Given the description of an element on the screen output the (x, y) to click on. 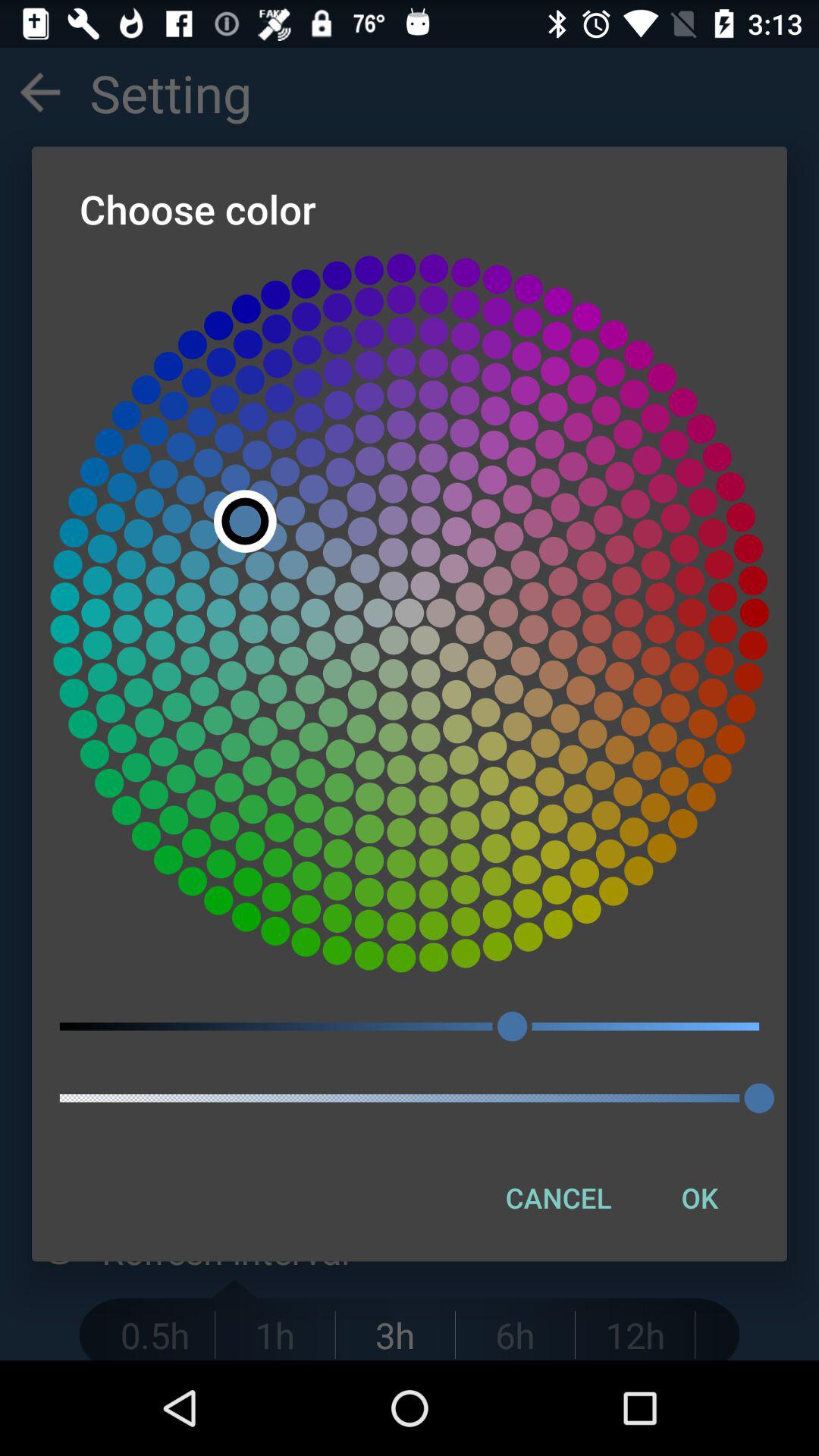
turn on item next to cancel (699, 1197)
